Given the description of an element on the screen output the (x, y) to click on. 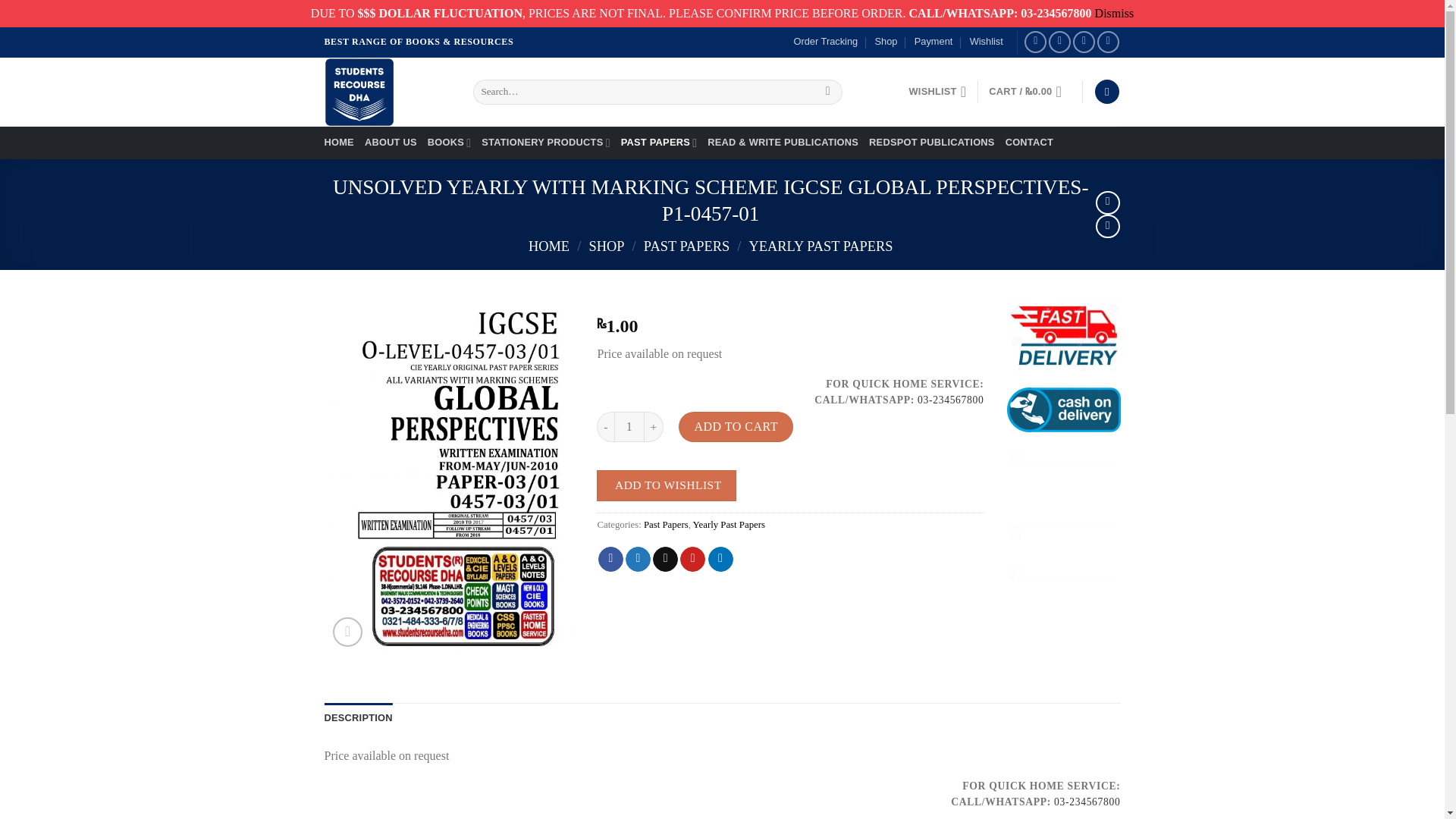
ABOUT US (390, 142)
CONTACT (1029, 142)
Qty (629, 426)
BOOKS (449, 142)
Payment (933, 41)
REDSPOT PUBLICATIONS (931, 142)
Dismiss (1114, 12)
Search (827, 91)
Cart (1029, 91)
HOME (338, 142)
